Given the description of an element on the screen output the (x, y) to click on. 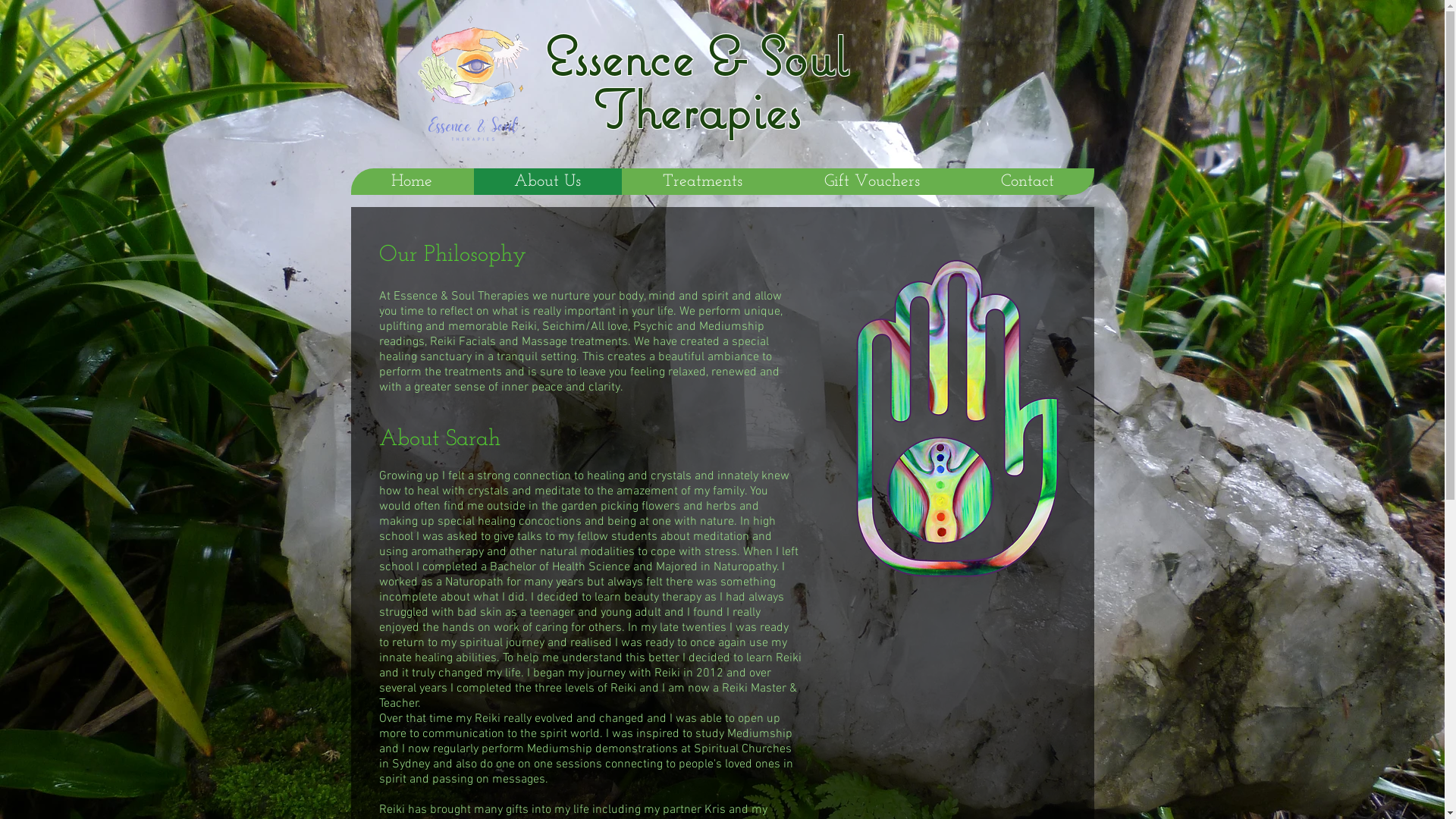
Contact Element type: text (1027, 181)
Essence and Soul.png 2015-7-17-22:47:18 Element type: hover (472, 78)
Essence and Soul.png 2015-7-17-22:47:18 Element type: hover (955, 415)
About Us Element type: text (547, 181)
Home Element type: text (411, 181)
Gift Vouchers Element type: text (870, 181)
Treatments Element type: text (702, 181)
